Given the description of an element on the screen output the (x, y) to click on. 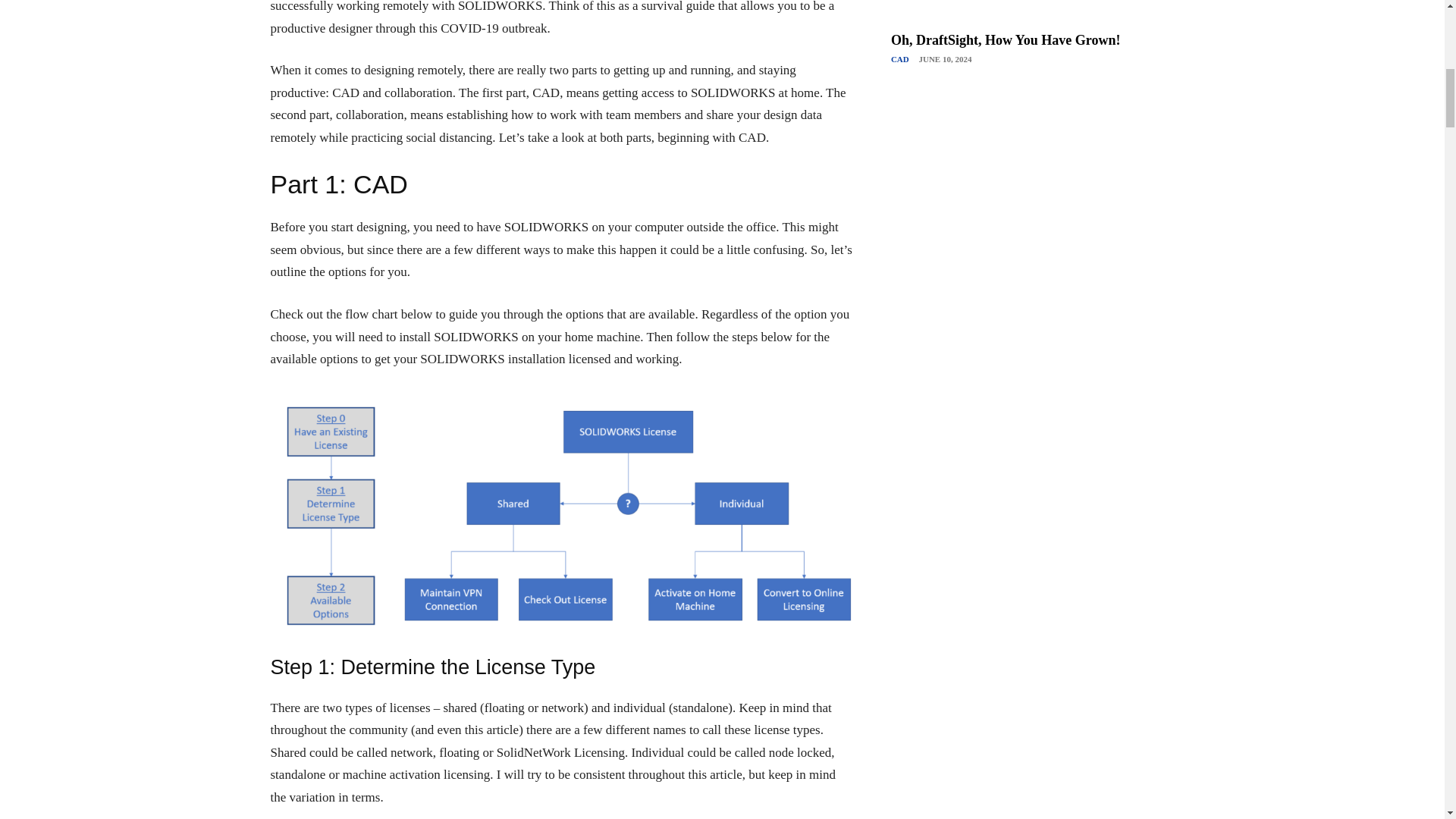
Oh, DraftSight, How You Have Grown! (1006, 39)
